Given the description of an element on the screen output the (x, y) to click on. 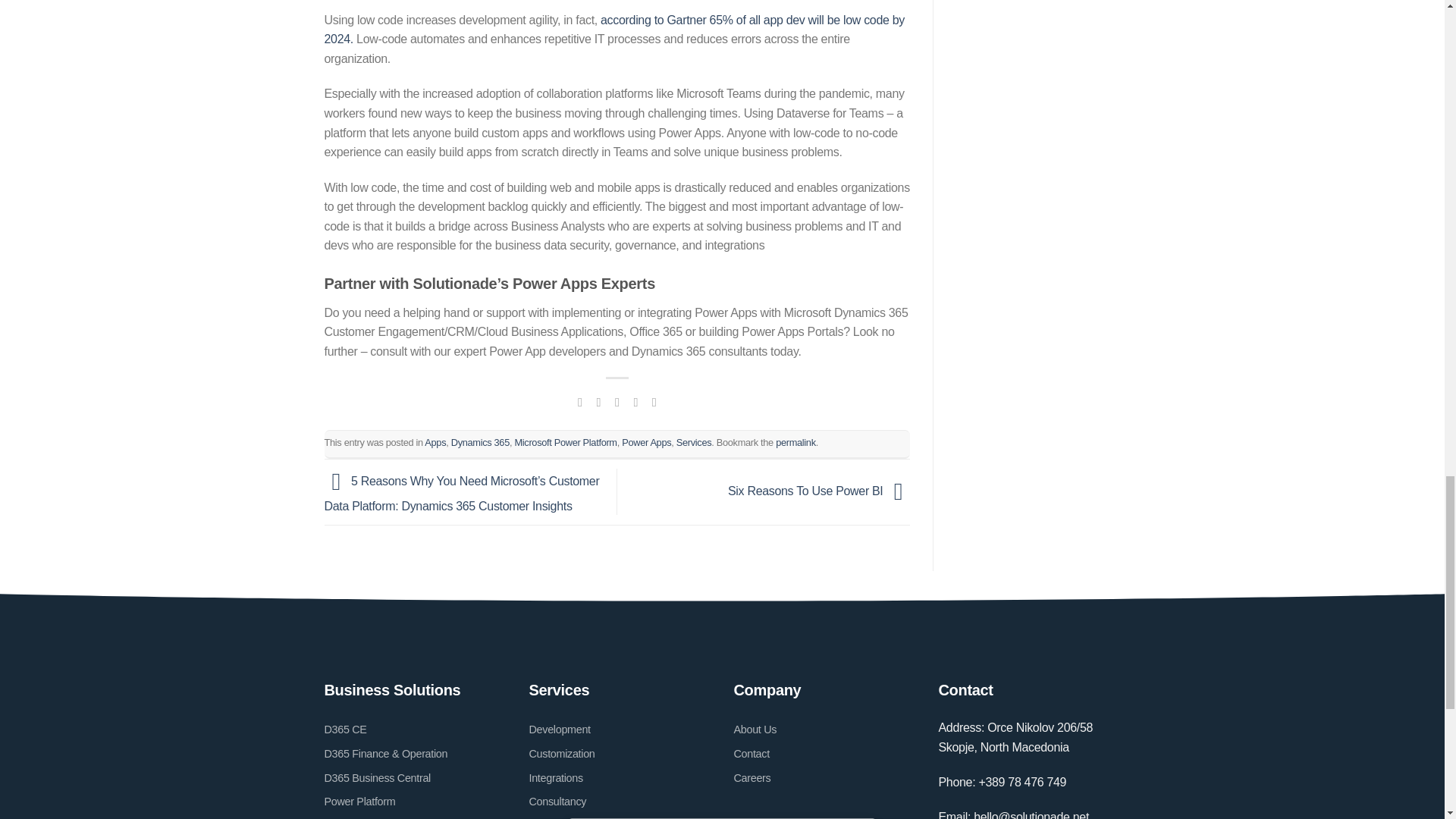
Email to a Friend (617, 401)
Pin on Pinterest (635, 401)
Share on Facebook (579, 401)
Share on Twitter (598, 401)
Share on LinkedIn (654, 401)
